Given the description of an element on the screen output the (x, y) to click on. 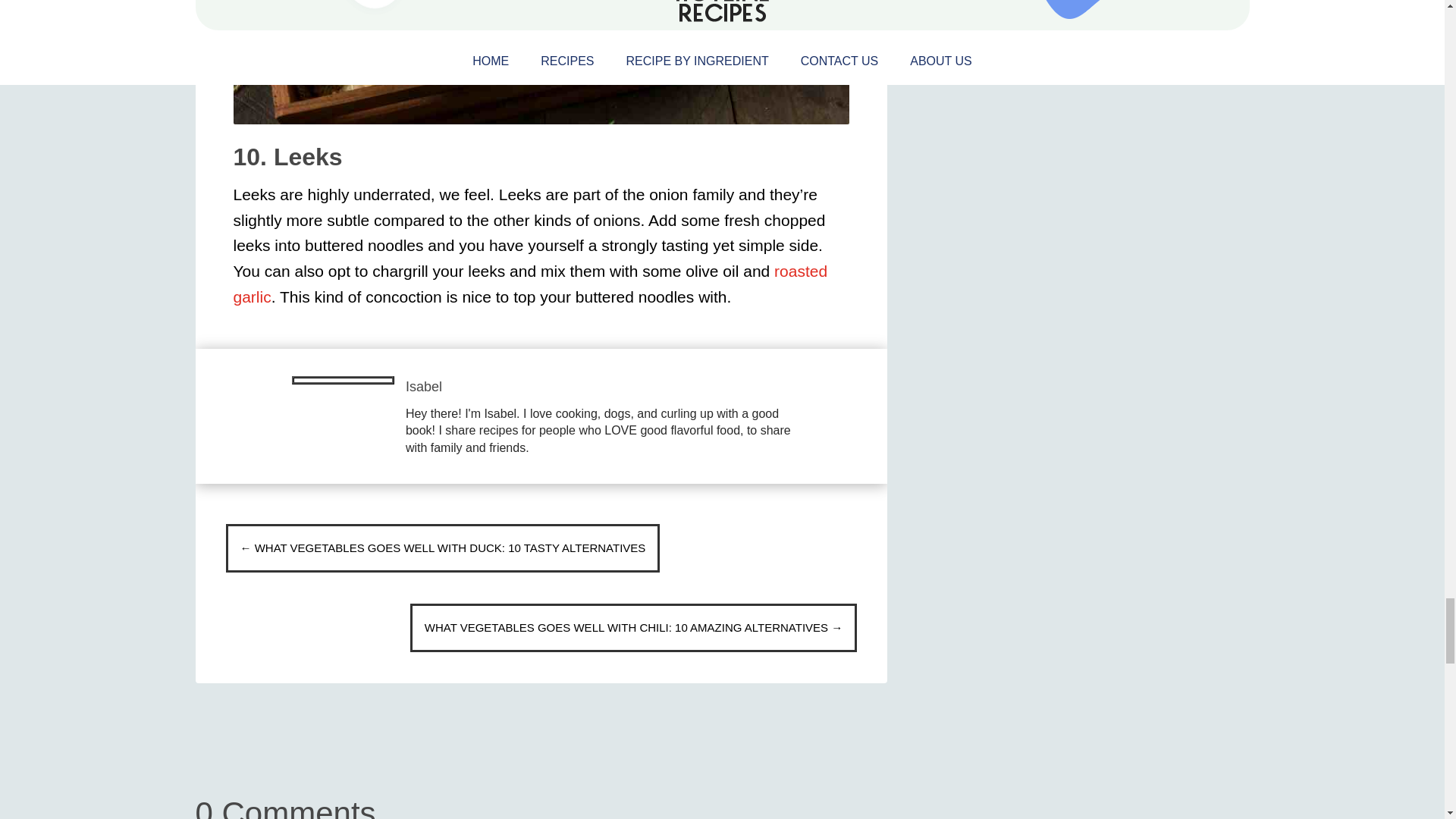
roasted garlic (530, 283)
Isabel (424, 386)
